Given the description of an element on the screen output the (x, y) to click on. 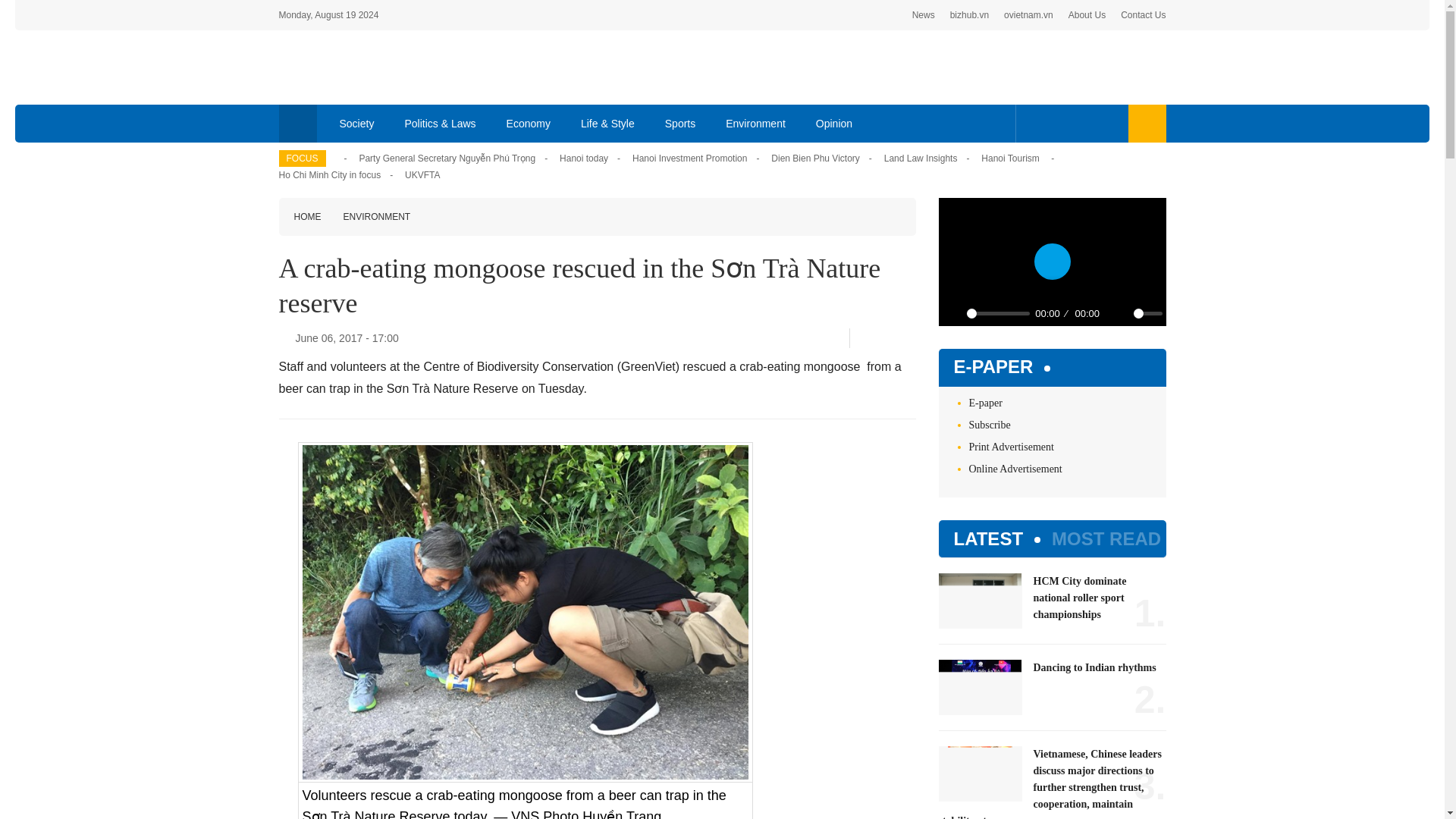
News (923, 15)
bizhub.vn (969, 15)
Instagram (1106, 123)
0 (1146, 313)
Twitter (1056, 122)
Email (909, 338)
Youtube (1081, 122)
Economy (529, 123)
0 (997, 313)
Society (357, 123)
